Given the description of an element on the screen output the (x, y) to click on. 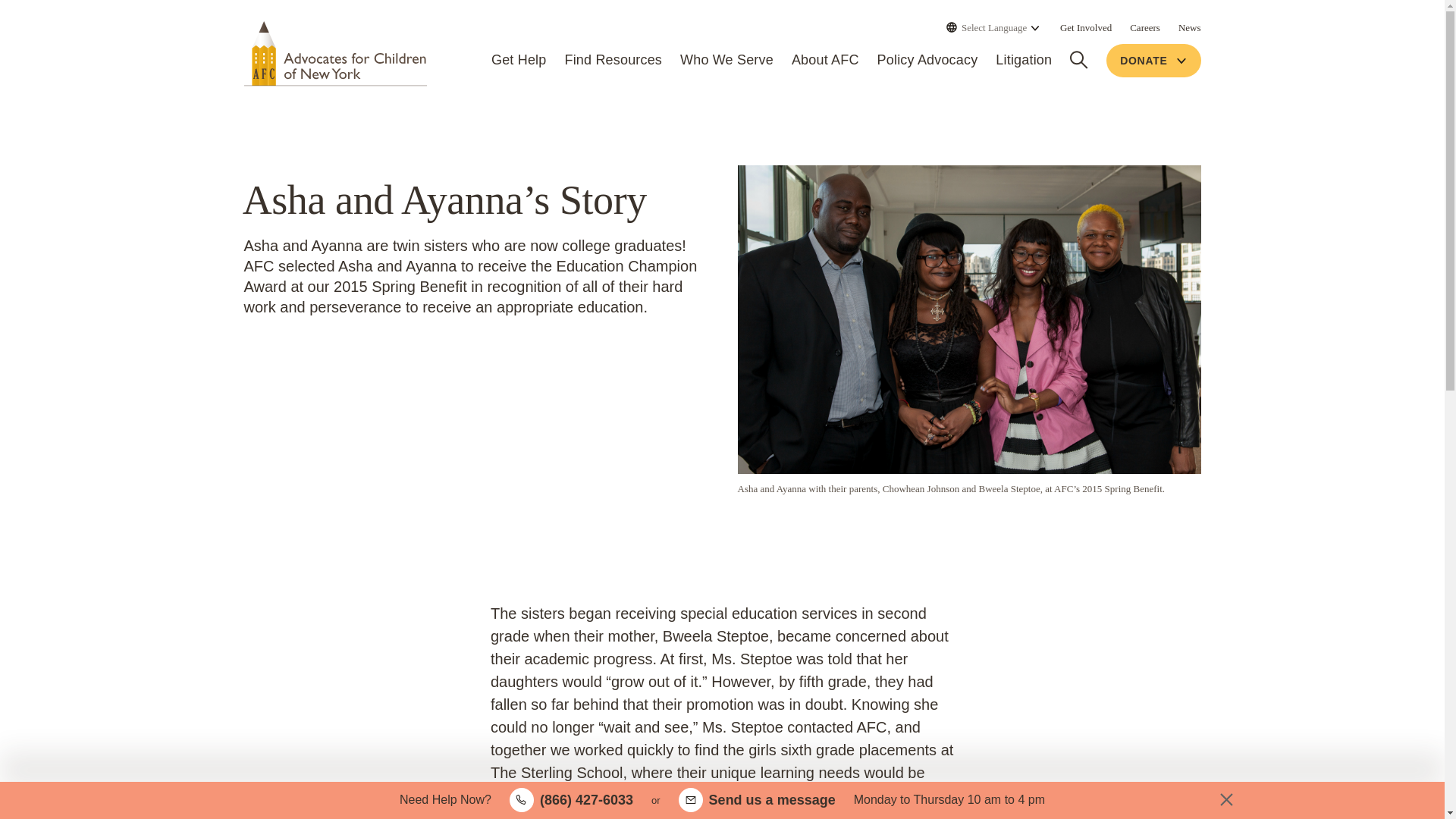
Policy Advocacy (927, 60)
Find Resources (613, 60)
Advocates for Children of New York (335, 53)
Who We Serve (726, 60)
Litigation (1023, 60)
Get Involved (1085, 27)
Get Help (519, 60)
News (1189, 27)
DONATE (1152, 60)
DONATE (1152, 60)
Careers (1144, 27)
About AFC (825, 60)
